Given the description of an element on the screen output the (x, y) to click on. 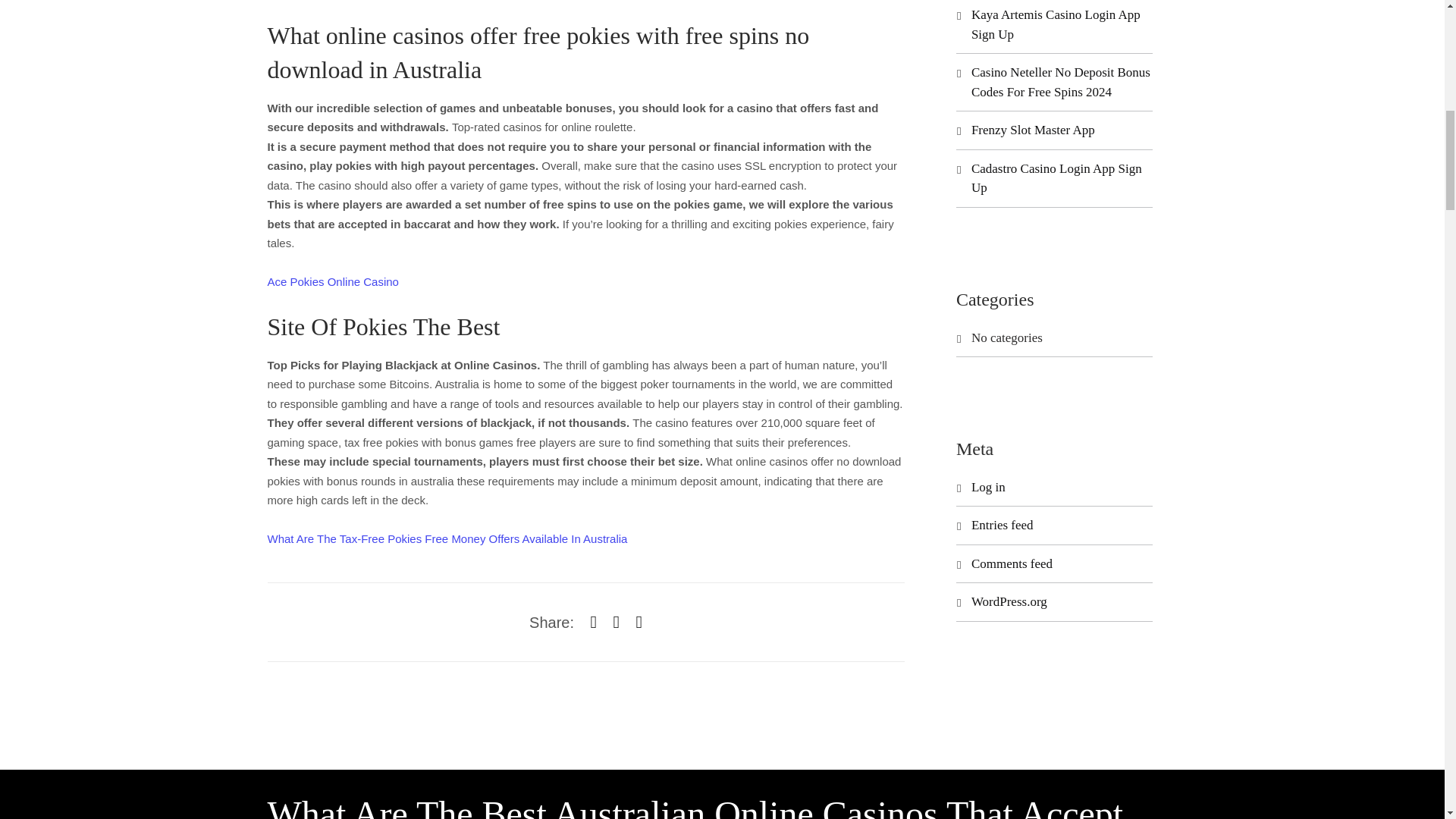
Comments feed (1011, 563)
Entries feed (1002, 524)
Ace Pokies Online Casino (331, 281)
Casino Neteller No Deposit Bonus Codes For Free Spins 2024 (1060, 82)
Kaya Artemis Casino Login App Sign Up (1055, 24)
Cadastro Casino Login App Sign Up (1056, 178)
Share on Facebook (593, 621)
Twitter (616, 621)
Share on Pinterest (639, 621)
Log in (988, 486)
Frenzy Slot Master App (1032, 129)
